Given the description of an element on the screen output the (x, y) to click on. 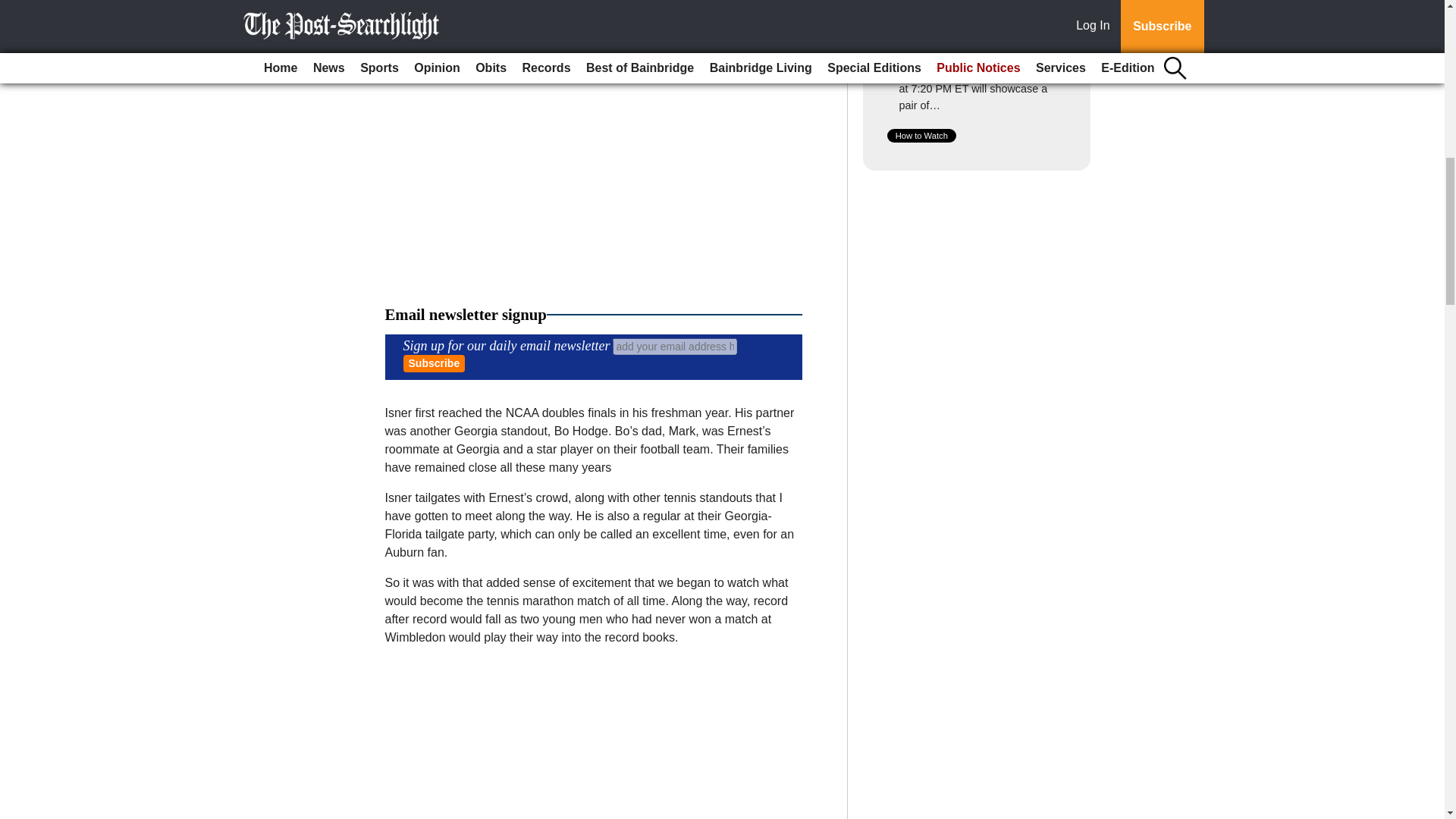
Subscribe (434, 363)
Subscribe (434, 363)
